Given the description of an element on the screen output the (x, y) to click on. 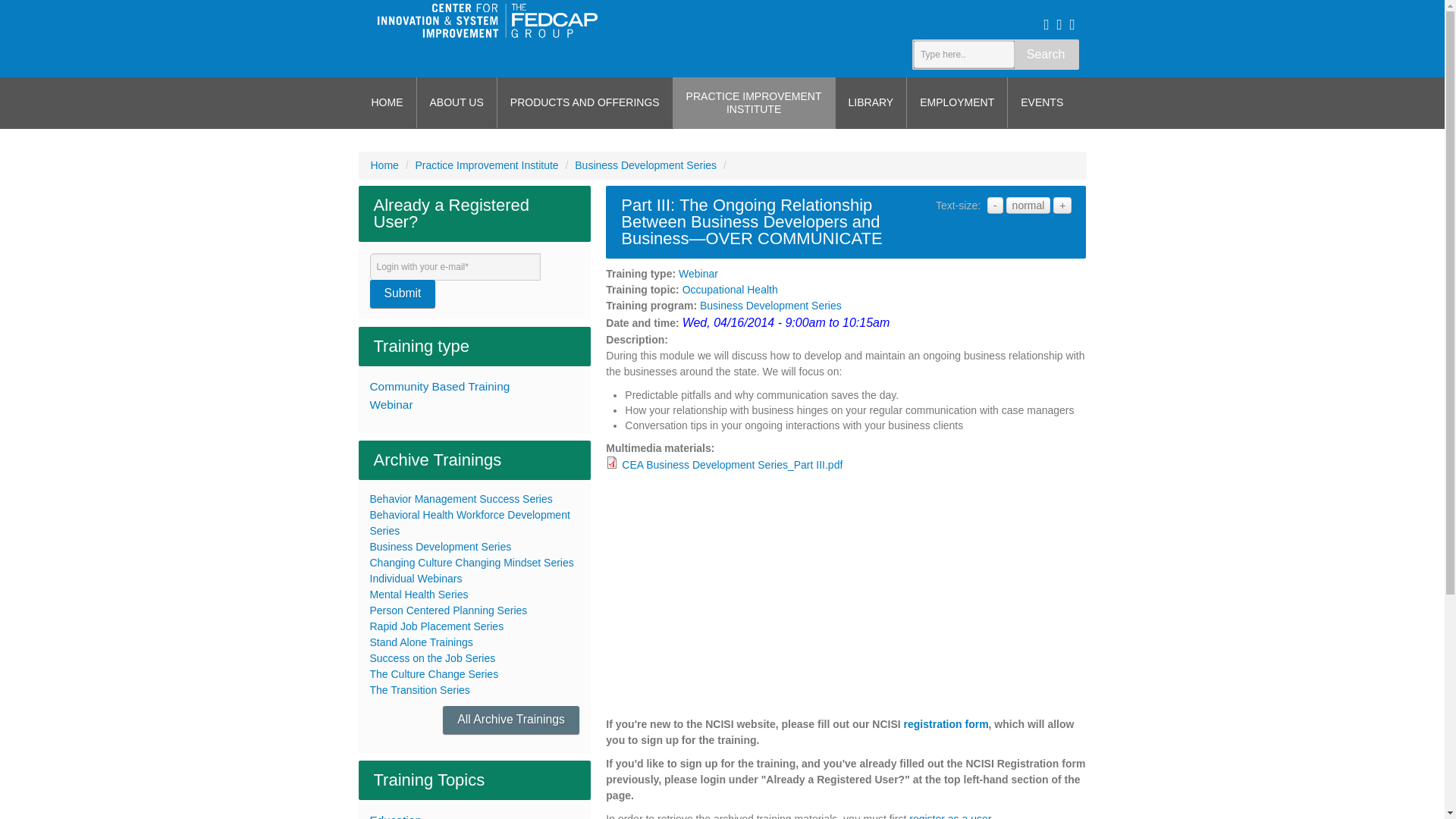
Rapid Job Placement Series (436, 625)
Behavior Management Success Series (461, 499)
Community Based Training (474, 386)
The Transition Series (419, 689)
Behavioral Health Workforce Development Series (753, 102)
All Archive Trainings (469, 522)
ABOUT US (510, 719)
Stand Alone Trainings (456, 101)
EVENTS (421, 642)
